Given the description of an element on the screen output the (x, y) to click on. 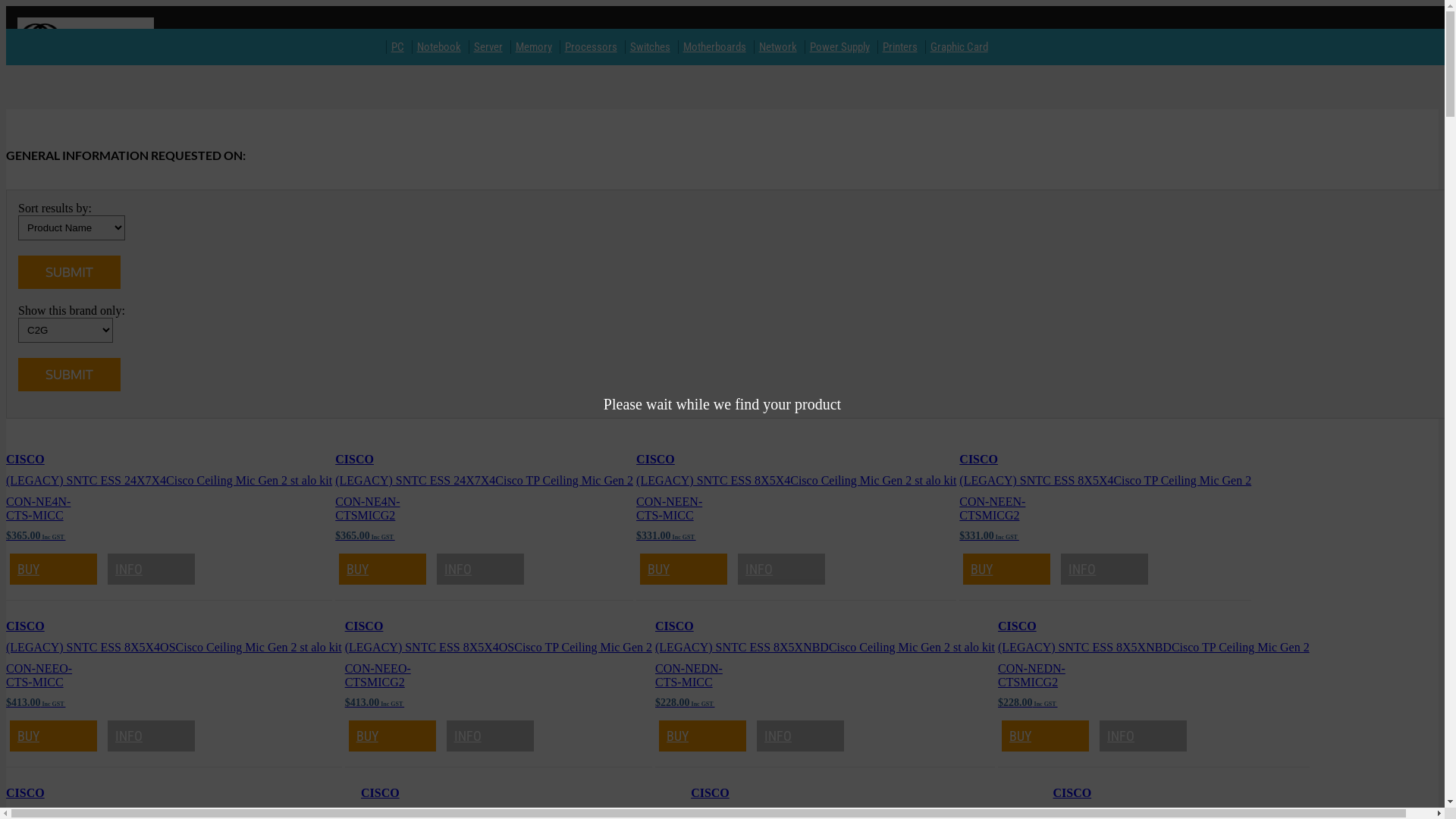
BUY Element type: text (1044, 735)
(LEGACY) SNTC ESS 8X5X4OSCisco TP Ceiling Mic Gen 2 Element type: text (498, 646)
Register Element type: text (1333, 55)
BUY Element type: text (382, 568)
$331.00 Inc GST  Element type: text (665, 534)
CISCO Element type: text (379, 792)
CISCO Element type: text (655, 458)
(LEGACY) SNTC ESS 8X5X4Cisco Ceiling Mic Gen 2 st alo kit Element type: text (796, 479)
CISCO Element type: text (354, 458)
BUY Element type: text (392, 735)
CON-NE4N-
CTS-MICC Element type: text (38, 508)
BUY Element type: text (53, 568)
Network Element type: text (777, 46)
$365.00 Inc GST  Element type: text (364, 534)
Memory Element type: text (533, 46)
INFO Element type: text (1104, 568)
Server Element type: text (488, 46)
CISCO Element type: text (25, 458)
Motherboards Element type: text (714, 46)
$228.00 Inc GST  Element type: text (1027, 701)
BUY Element type: text (1006, 568)
Shopping Cart Element type: text (1406, 55)
Notebook Element type: text (438, 46)
Log-in Element type: text (1278, 55)
CISCO Element type: text (1016, 625)
$228.00 Inc GST  Element type: text (684, 701)
$331.00 Inc GST  Element type: text (988, 534)
$365.00 Inc GST  Element type: text (35, 534)
CON-NEEO-
CTSMICG2 Element type: text (378, 675)
BUY Element type: text (53, 735)
CON-NEEN-
CTSMICG2 Element type: text (992, 508)
$413.00 Inc GST  Element type: text (35, 701)
(LEGACY) SNTC ESS 24X7X4Cisco Ceiling Mic Gen 2 st alo kit Element type: text (169, 479)
Graphic Card Element type: text (958, 46)
Switches Element type: text (649, 46)
(LEGACY) SNTC ESS 8X5XNBDCisco Ceiling Mic Gen 2 st alo kit Element type: text (824, 646)
$413.00 Inc GST  Element type: text (374, 701)
INFO Element type: text (781, 568)
BUY Element type: text (683, 568)
(LEGACY) SNTC ESS 8X5XNBDCisco TP Ceiling Mic Gen 2 Element type: text (1153, 646)
(LEGACY) SNTC ESS 8X5X4OSCisco Ceiling Mic Gen 2 st alo kit Element type: text (174, 646)
CON-NEDN-
CTSMICG2 Element type: text (1031, 675)
CON-NEEO-
CTS-MICC Element type: text (39, 675)
BUY Element type: text (702, 735)
Processors Element type: text (590, 46)
CISCO Element type: text (674, 625)
INFO Element type: text (480, 568)
CISCO Element type: text (364, 625)
Printers Element type: text (900, 46)
INFO Element type: text (800, 735)
INFO Element type: text (150, 735)
CISCO Element type: text (25, 625)
CON-NE4N-
CTSMICG2 Element type: text (367, 508)
INFO Element type: text (489, 735)
(LEGACY) SNTC ESS 8X5X4Cisco TP Ceiling Mic Gen 2 Element type: text (1105, 479)
CISCO Element type: text (1071, 792)
INFO Element type: text (1142, 735)
(LEGACY) SNTC ESS 24X7X4Cisco TP Ceiling Mic Gen 2 Element type: text (484, 479)
PC Element type: text (397, 46)
Power Supply Element type: text (839, 46)
CISCO Element type: text (709, 792)
CISCO Element type: text (25, 792)
CON-NEDN-
CTS-MICC Element type: text (688, 675)
CON-NEEN-
CTS-MICC Element type: text (669, 508)
INFO Element type: text (150, 568)
CISCO Element type: text (978, 458)
